Given the description of an element on the screen output the (x, y) to click on. 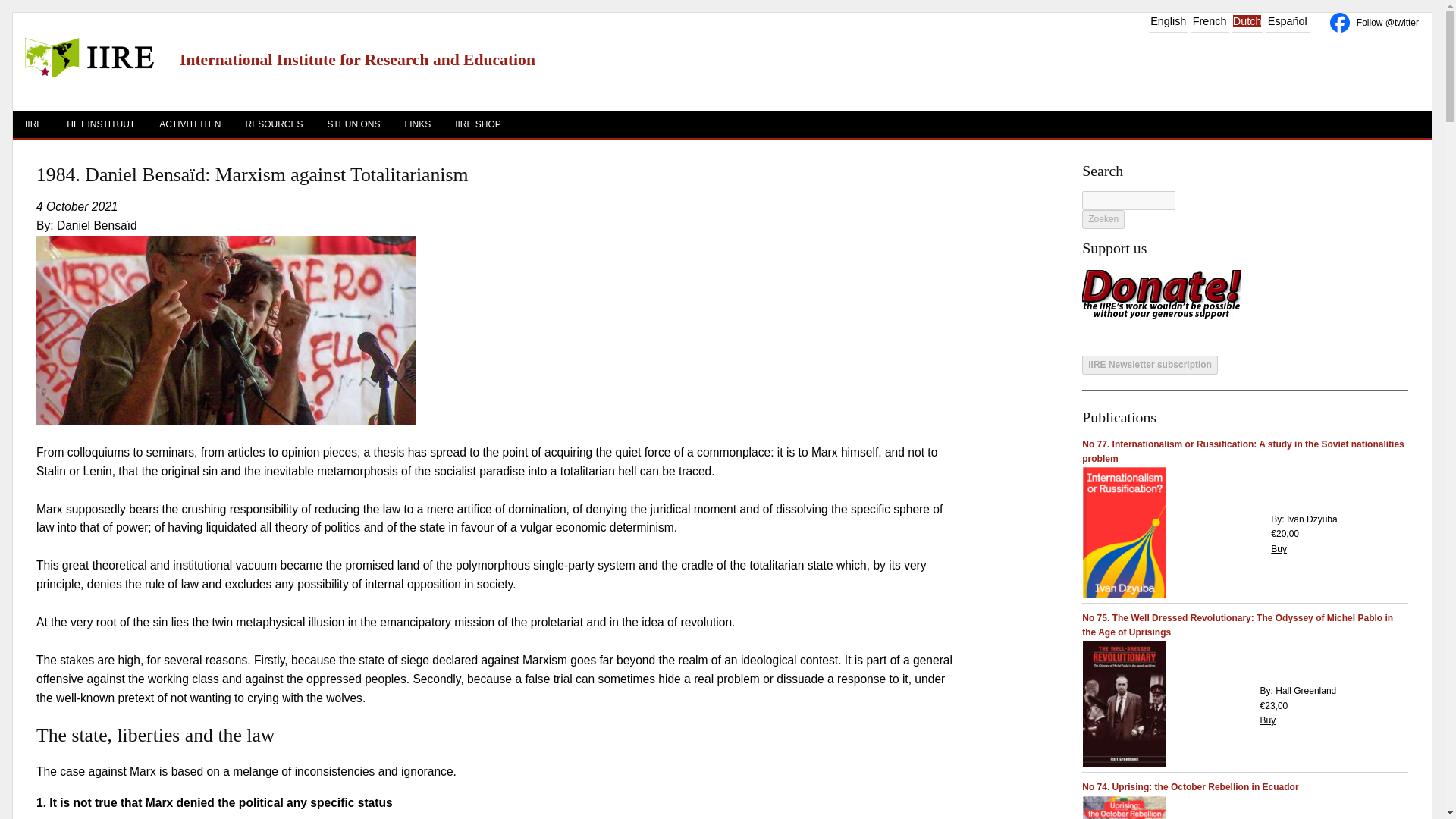
IIRE (89, 73)
IIRE (34, 124)
Geef de woorden op waarnaar u wilt zoeken. (1127, 199)
Choose your language (1209, 21)
Resources (273, 124)
IIRE SHOP (477, 124)
Choose your language (1287, 21)
Choose your language (1168, 21)
LINKS (418, 124)
ACTIVITEITEN (189, 124)
Zoeken (1102, 219)
STEUN ONS (352, 124)
Choose your language (1247, 21)
French (1209, 21)
